Given the description of an element on the screen output the (x, y) to click on. 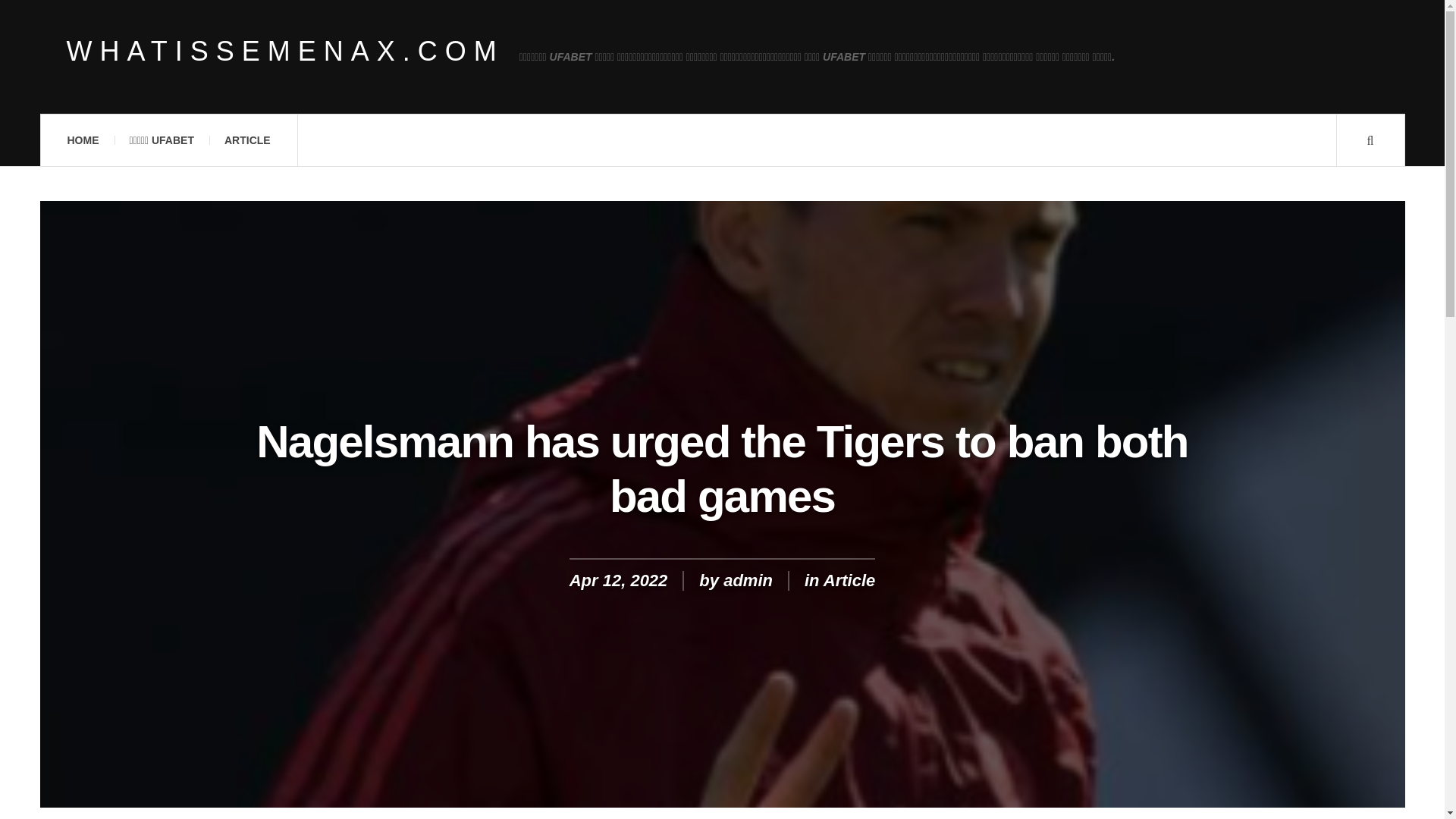
whatissemenax.com (284, 51)
View all posts in Article (849, 579)
admin (748, 579)
Article (849, 579)
ARTICLE (247, 140)
WHATISSEMENAX.COM (284, 51)
HOME (81, 140)
